Given the description of an element on the screen output the (x, y) to click on. 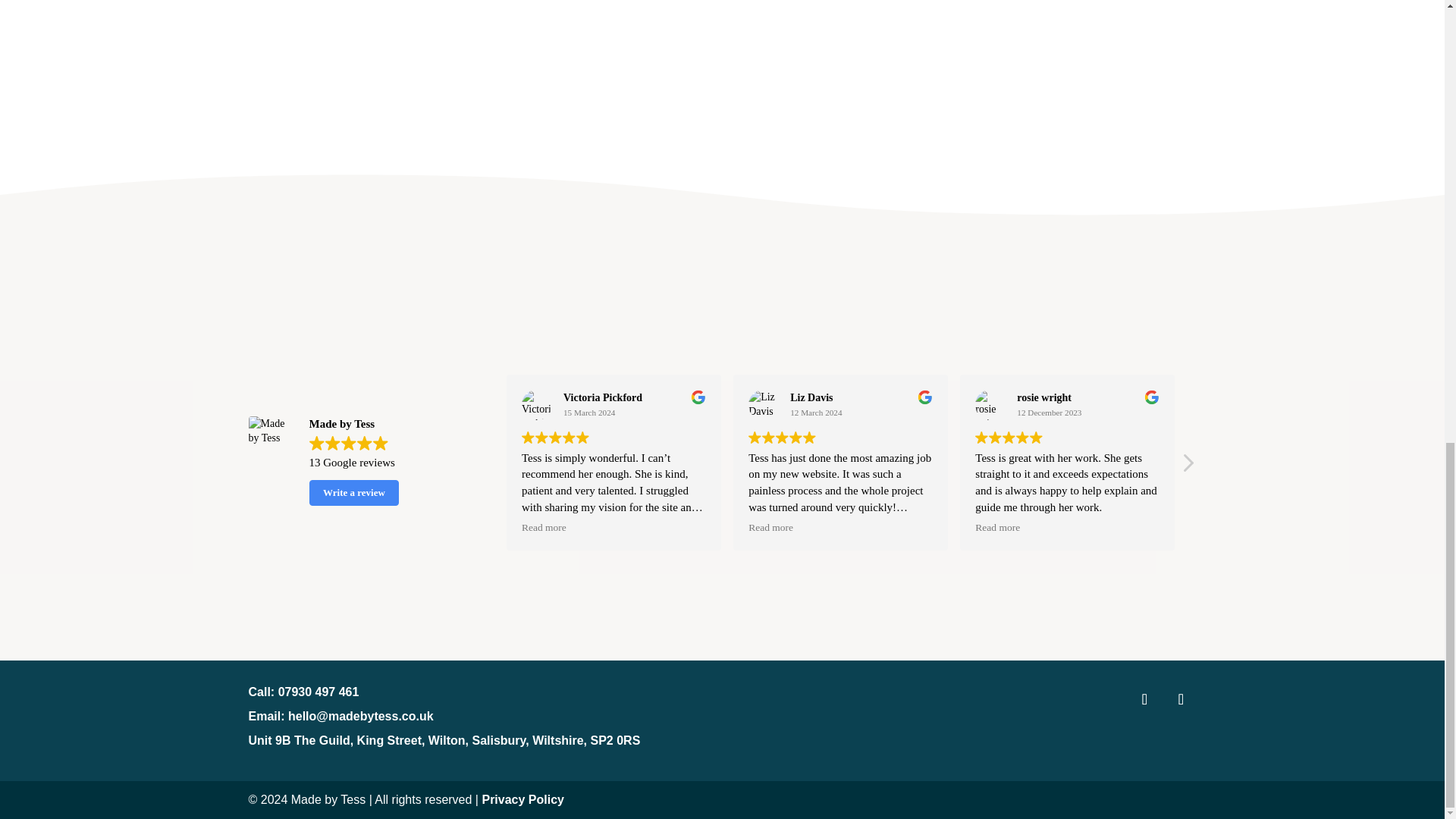
Privacy Policy (522, 799)
07930 497 461 (318, 691)
Follow on Facebook (1144, 698)
Write a review (353, 492)
Follow on Instagram (1181, 698)
